Given the description of an element on the screen output the (x, y) to click on. 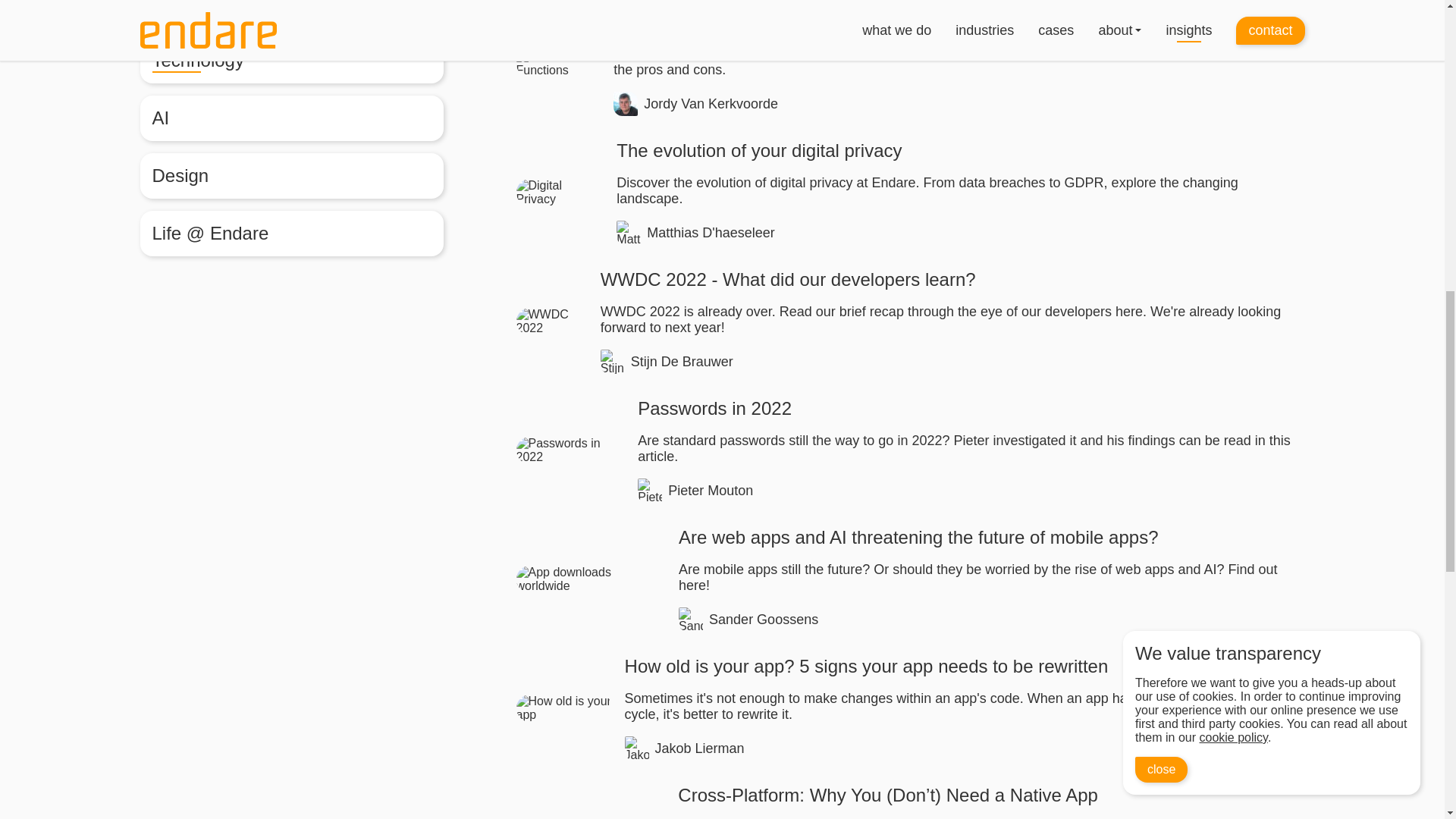
Design (290, 176)
Business Insights (290, 12)
Technology (290, 60)
AI (290, 117)
